Given the description of an element on the screen output the (x, y) to click on. 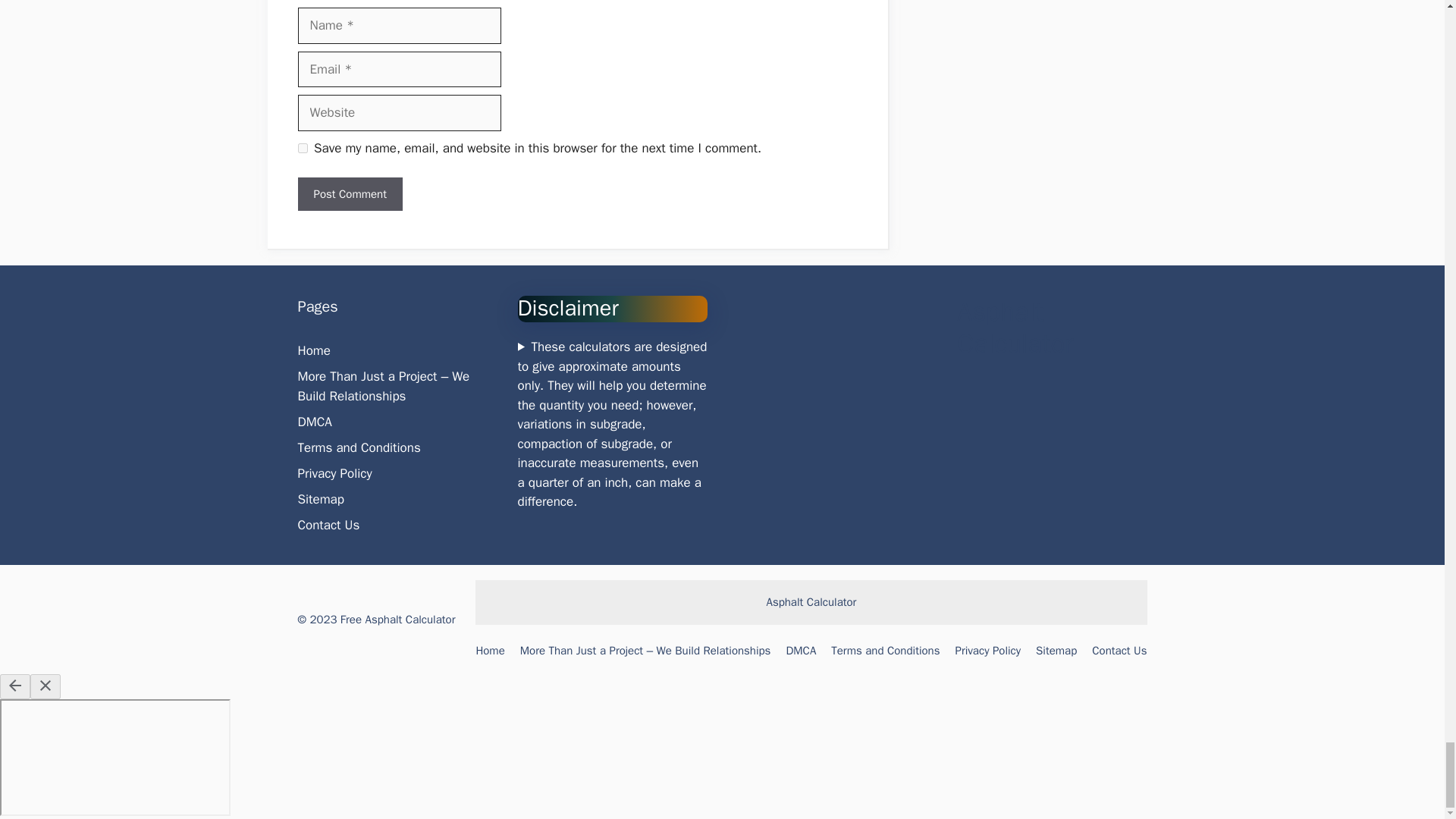
Post Comment (349, 194)
yes (302, 148)
